Given the description of an element on the screen output the (x, y) to click on. 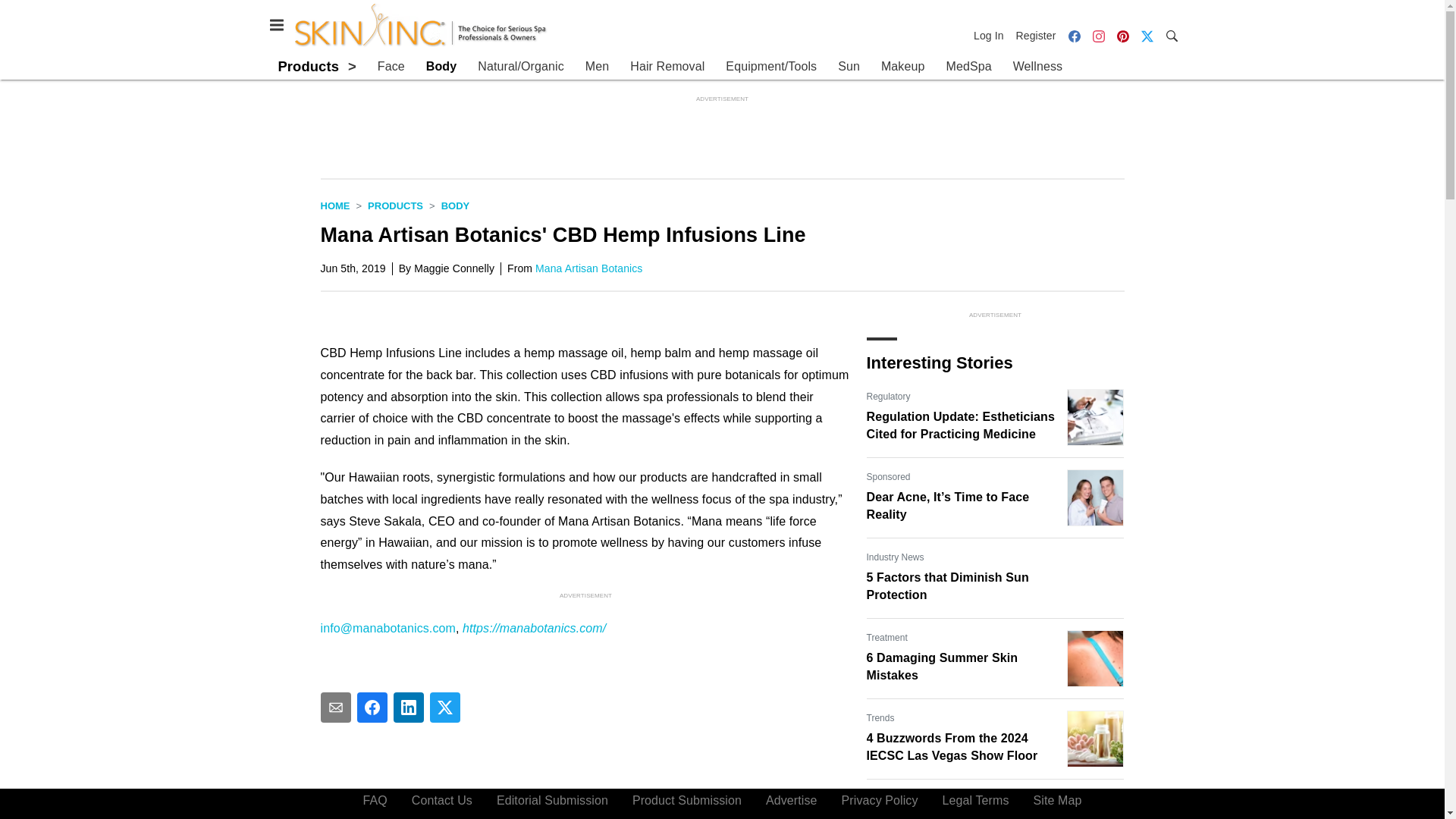
Share To email (335, 707)
Wellness (1037, 66)
Sun (849, 66)
Share To twitter (444, 707)
Home (334, 205)
Twitter X icon (1146, 36)
Products (308, 65)
MedSpa (967, 66)
Makeup (902, 66)
Pinterest icon (1122, 36)
Twitter X icon (1146, 35)
Face (390, 66)
Instagram icon (1097, 36)
Pinterest icon (1121, 35)
Facebook icon (1073, 36)
